Given the description of an element on the screen output the (x, y) to click on. 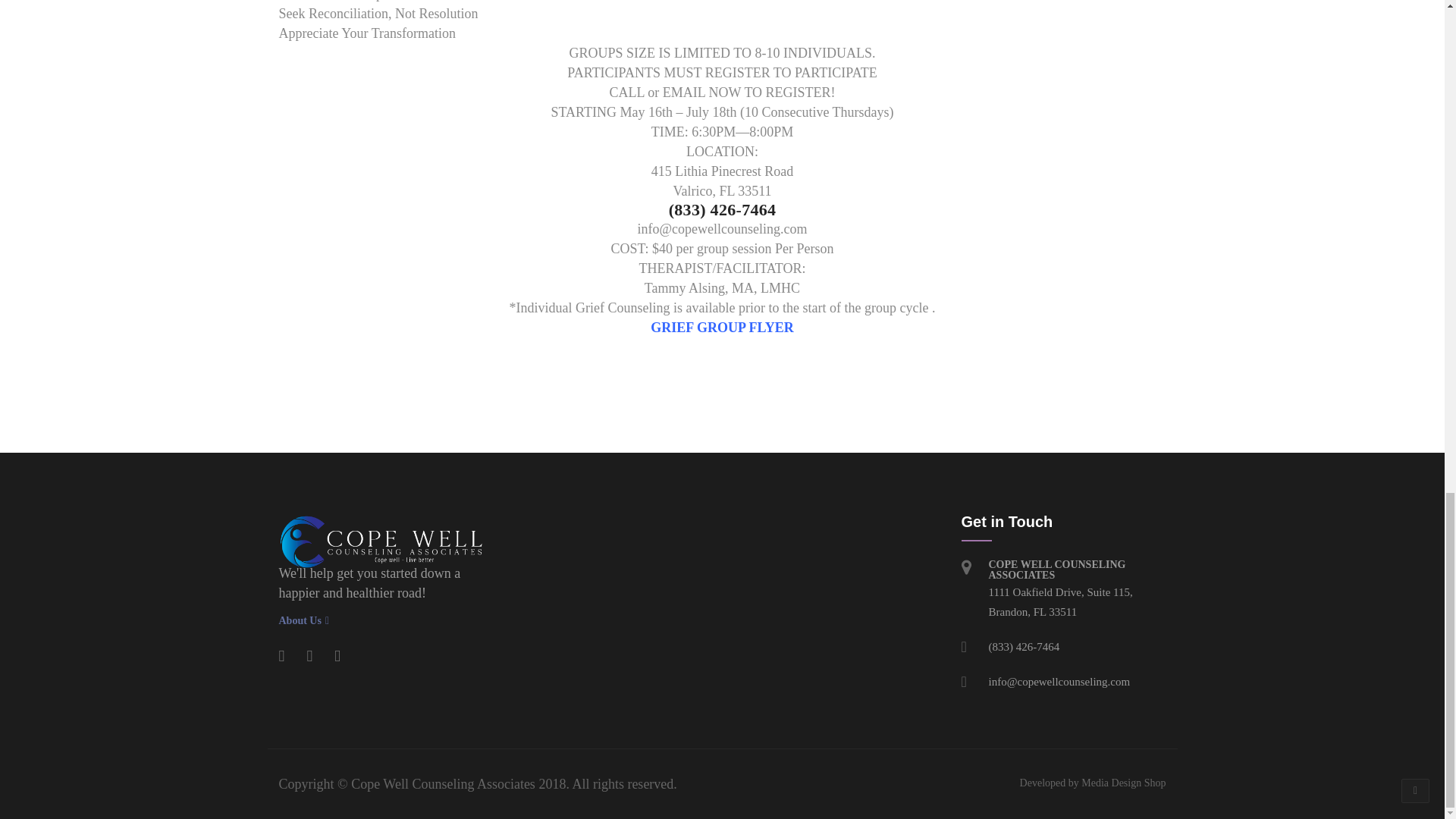
Developed by Media Design Shop (1093, 782)
About Us (381, 621)
GRIEF GROUP FLYER (721, 327)
